Given the description of an element on the screen output the (x, y) to click on. 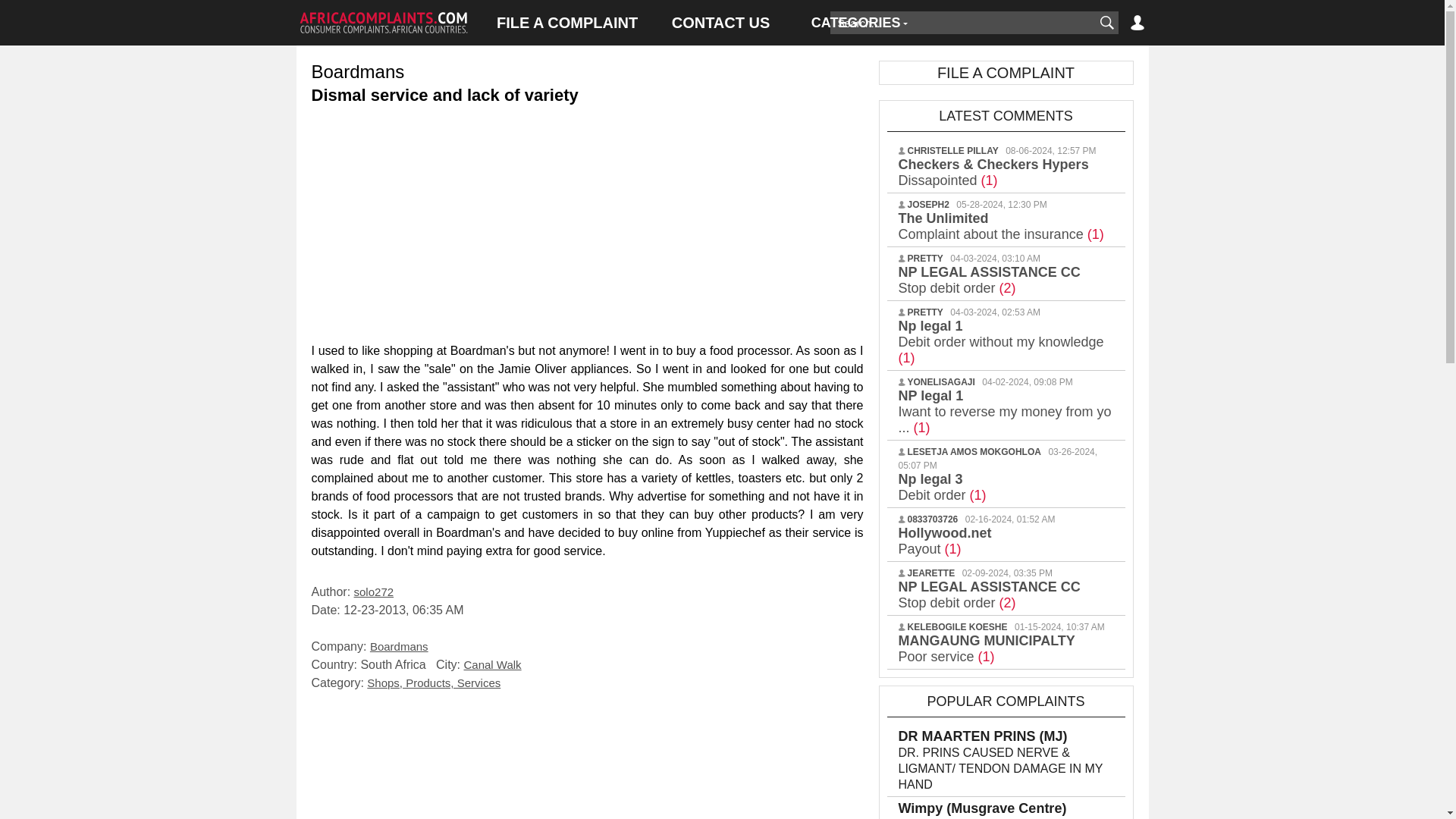
Np legal 3 - Debit order (941, 486)
Find (1106, 22)
Advertisement (587, 220)
Np legal 1 - Debit order without my knowledge (1000, 341)
Advertisement (587, 759)
Hollywood.net - Payout (944, 540)
MANGAUNG MUNICIPALTY - Poor service (986, 648)
NP LEGAL ASSISTANCE CC - Stop debit order (989, 594)
The Unlimited - Complaint about the insurance (1000, 225)
NP LEGAL ASSISTANCE CC - Stop debit order (989, 279)
